Given the description of an element on the screen output the (x, y) to click on. 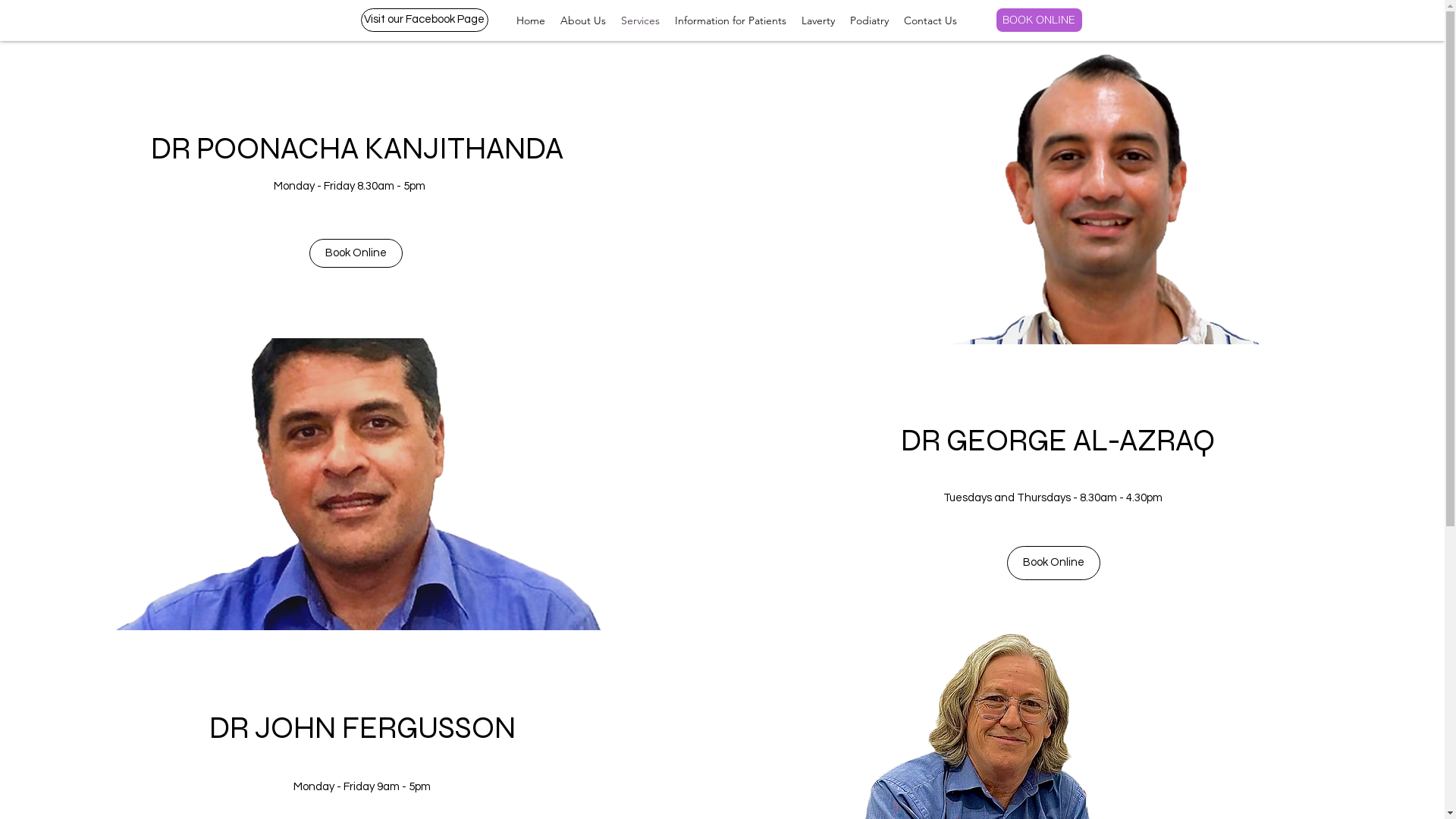
About Us Element type: text (582, 20)
Contact Us Element type: text (930, 20)
Podiatry Element type: text (868, 20)
Home Element type: text (530, 20)
Book Appointment Element type: text (1354, 23)
Services Element type: text (639, 20)
Visit our Facebook Page Element type: text (424, 19)
BOOK ONLINE Element type: text (1039, 19)
Information for Patients Element type: text (730, 20)
Book Online Element type: text (355, 252)
Laverty Element type: text (817, 20)
Book Online Element type: text (1053, 563)
